Given the description of an element on the screen output the (x, y) to click on. 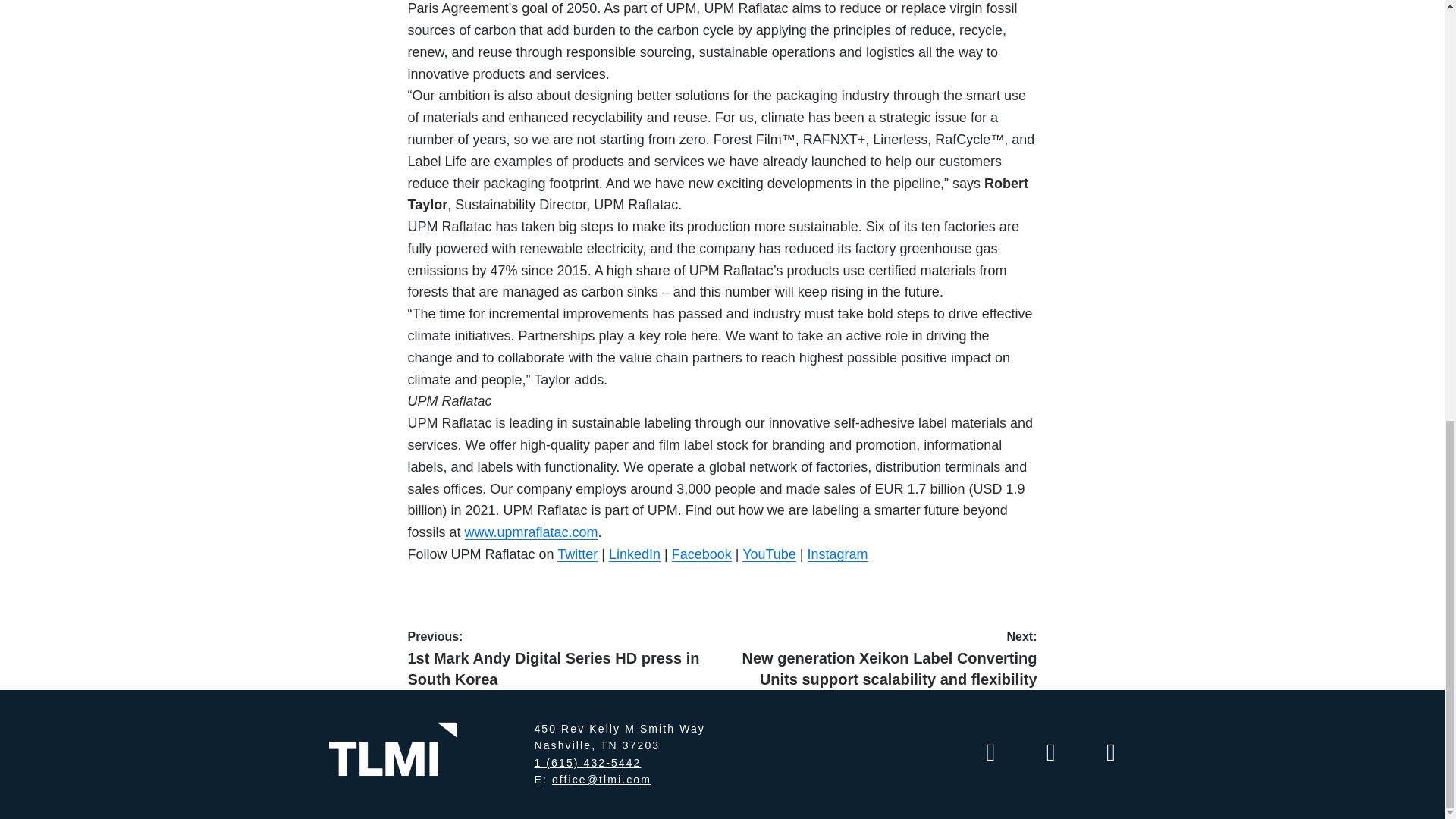
LinkedIn (634, 554)
Instagram (837, 554)
Facebook (701, 554)
www.upmraflatac.com (531, 531)
YouTube (769, 554)
Twitter (576, 554)
